Given the description of an element on the screen output the (x, y) to click on. 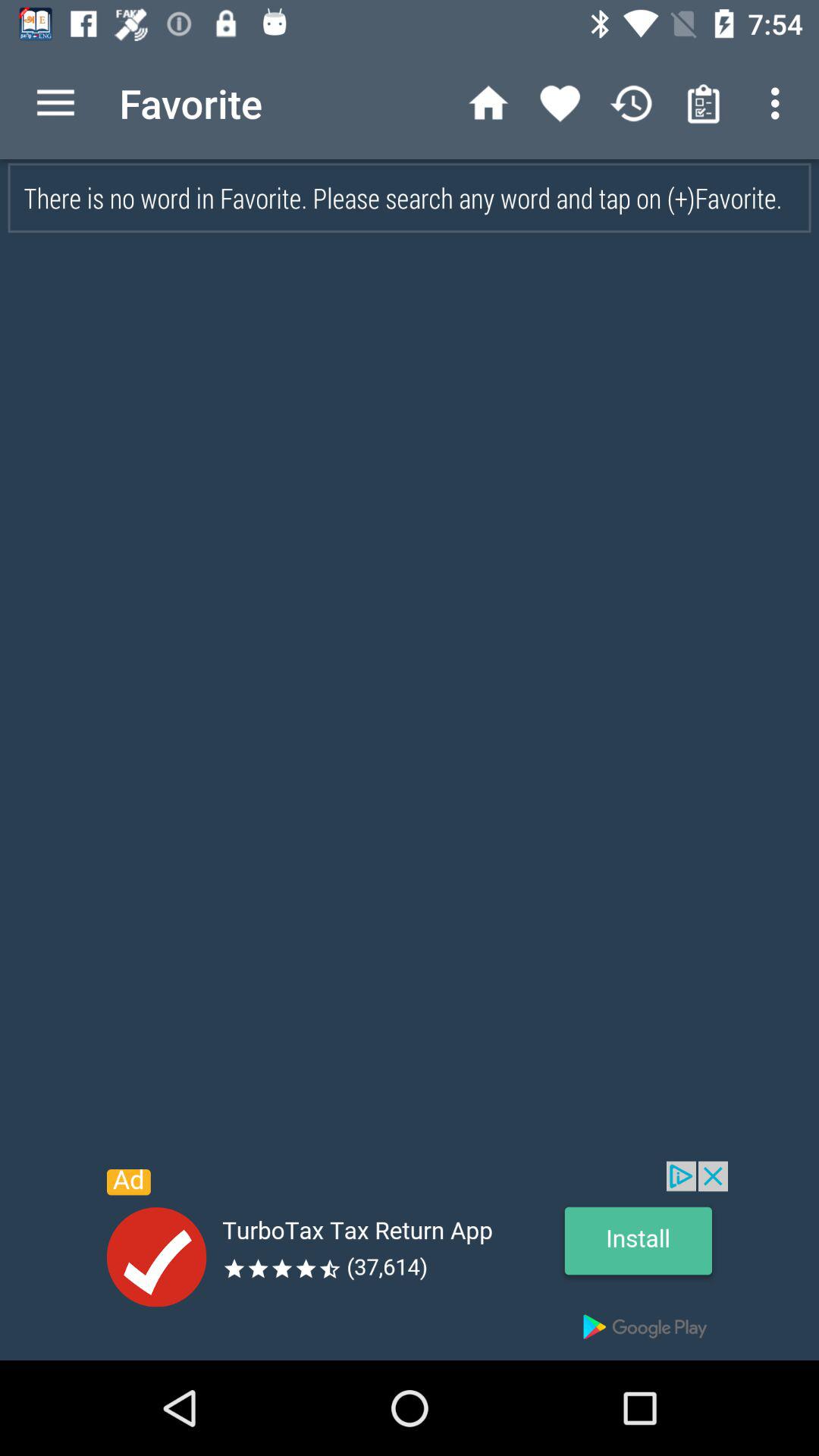
open the advertisement (409, 1260)
